Given the description of an element on the screen output the (x, y) to click on. 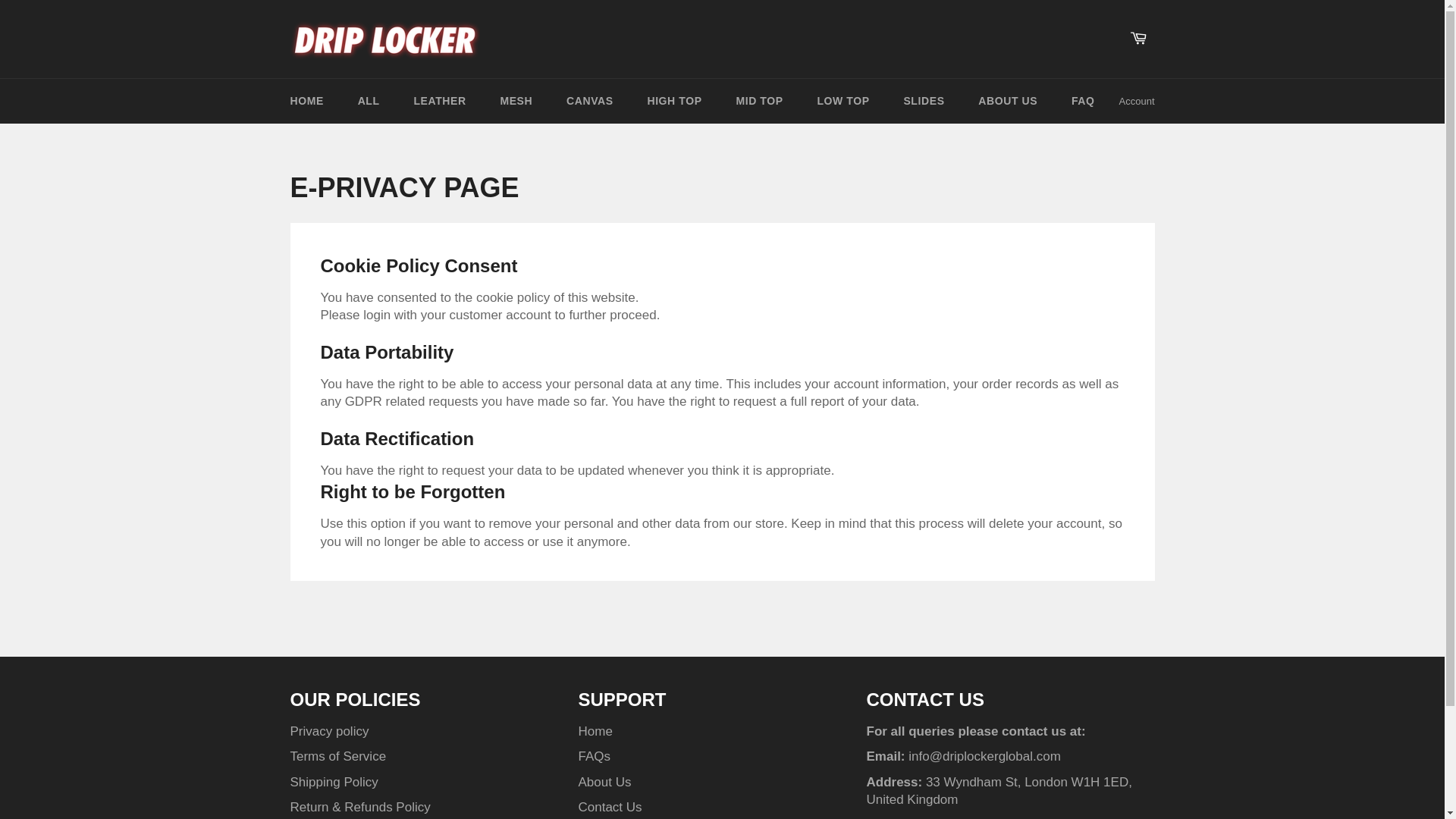
HOME (306, 100)
CANVAS (589, 100)
FAQ (1083, 100)
LOW TOP (842, 100)
SLIDES (923, 100)
ABOUT US (1007, 100)
LEATHER (438, 100)
Account (1136, 101)
Cart (1138, 39)
HIGH TOP (673, 100)
